Given the description of an element on the screen output the (x, y) to click on. 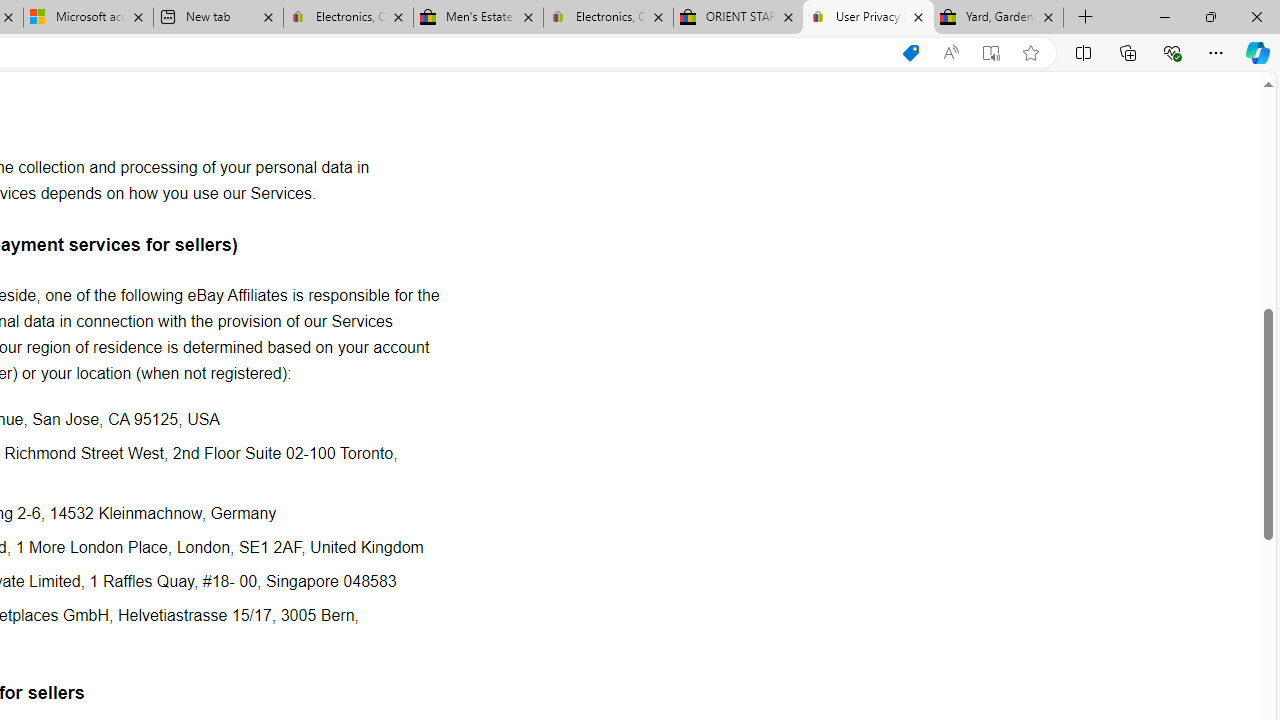
This site has coupons! Shopping in Microsoft Edge (910, 53)
